Given the description of an element on the screen output the (x, y) to click on. 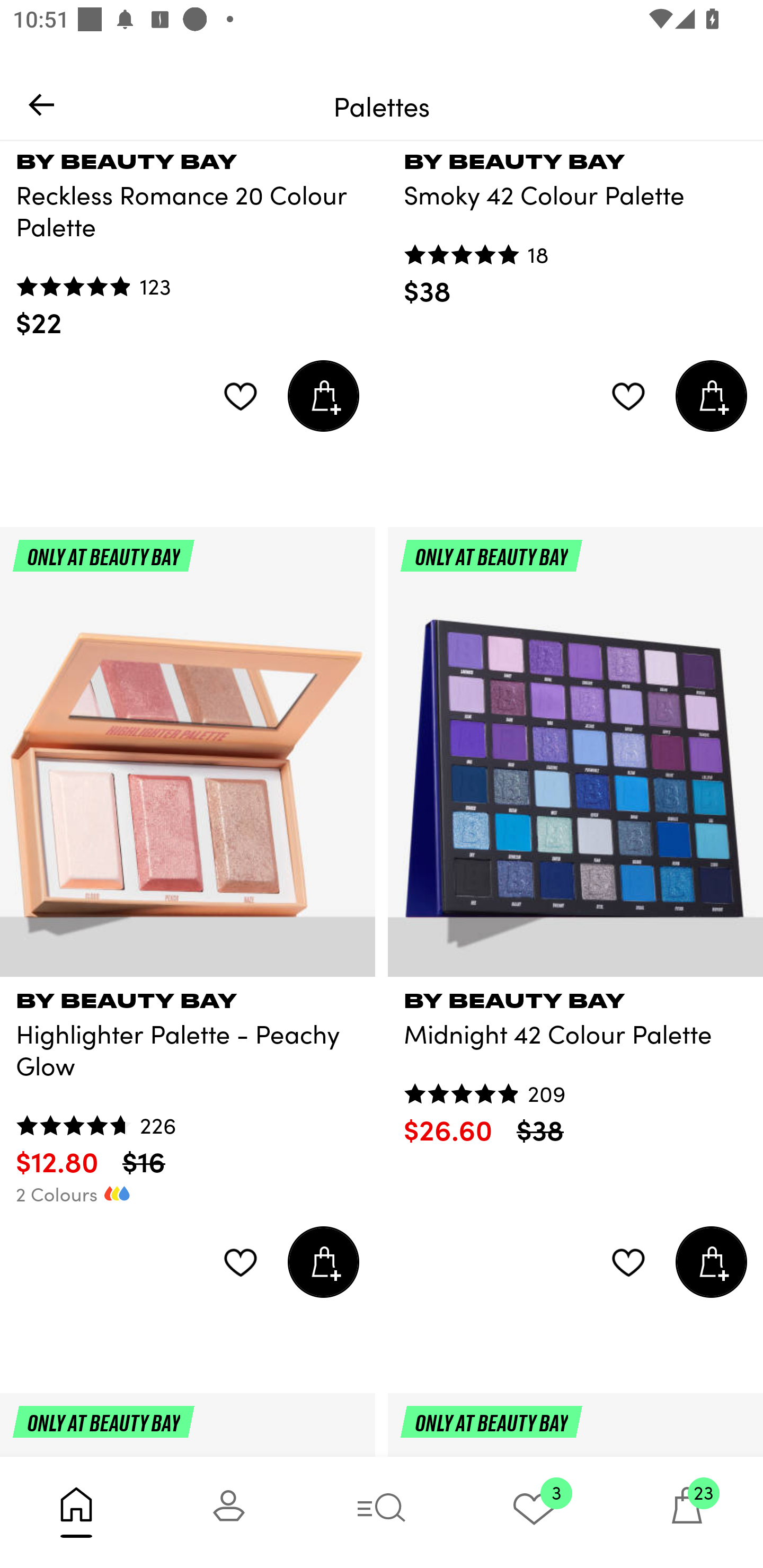
3 (533, 1512)
23 (686, 1512)
